Given the description of an element on the screen output the (x, y) to click on. 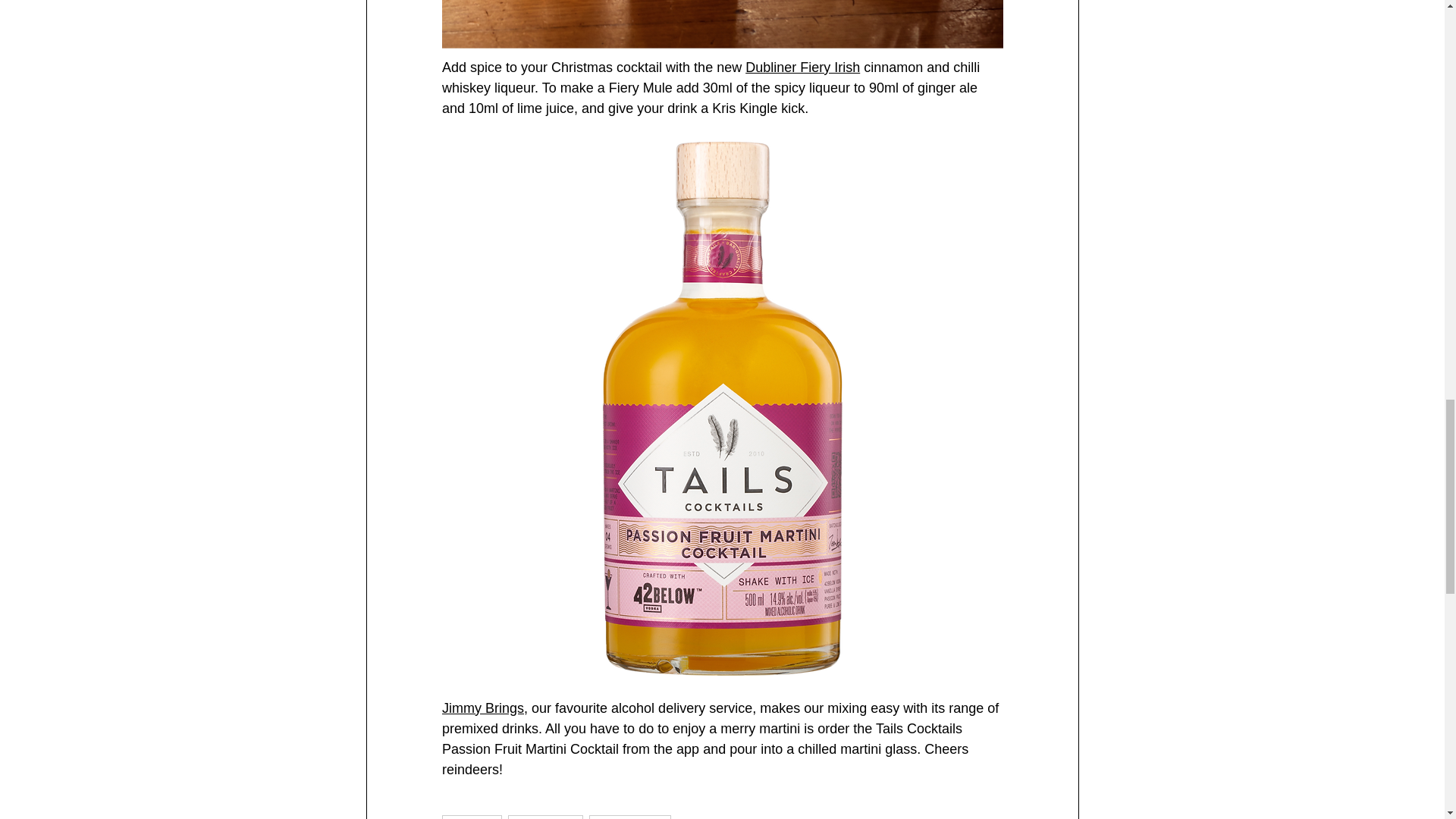
Jimmy Brings (481, 708)
cocktail party (630, 816)
cocktails (471, 816)
Dubliner Fiery Irish (802, 67)
entertaining (545, 816)
